Given the description of an element on the screen output the (x, y) to click on. 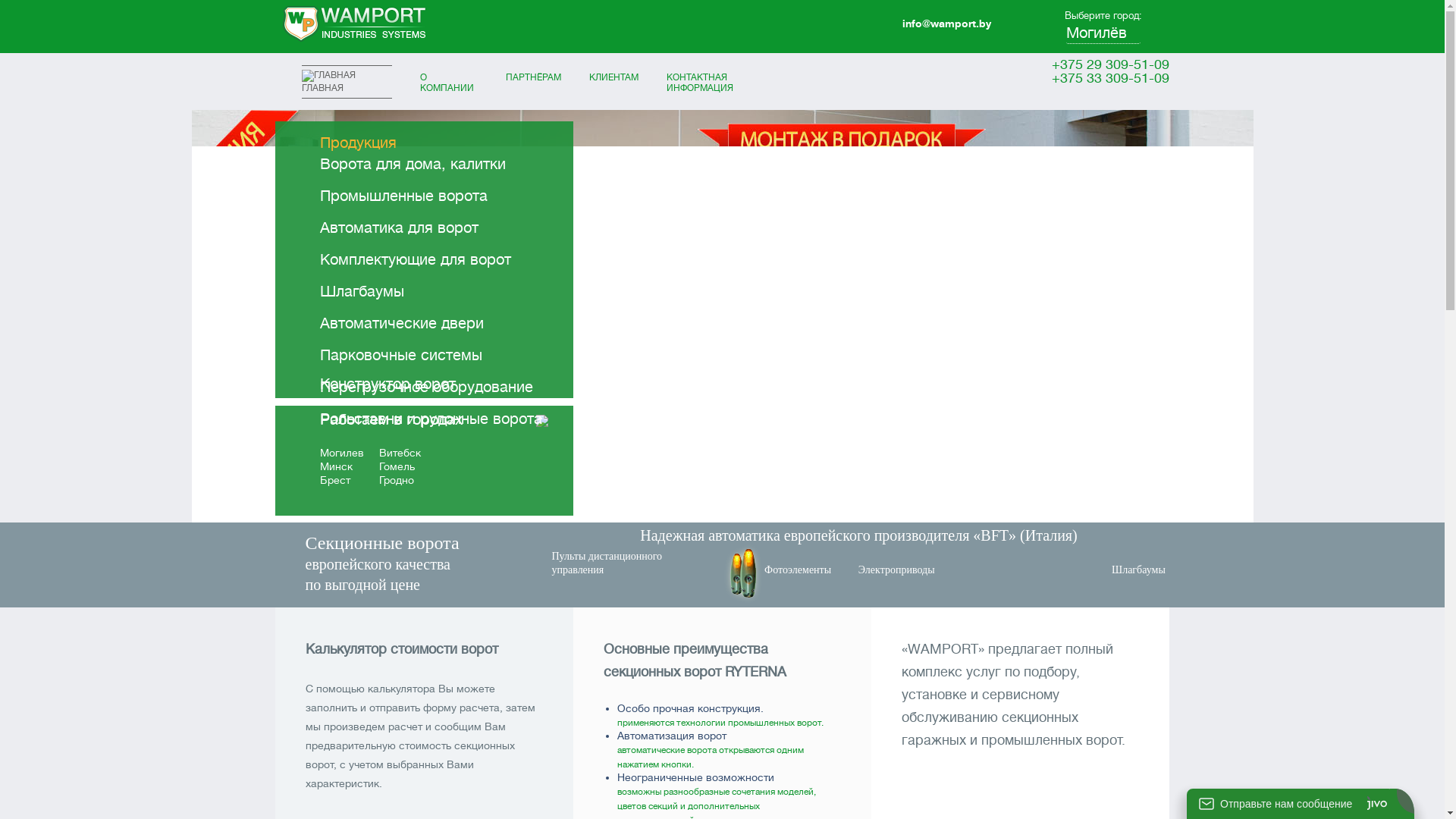
2 Element type: text (711, 506)
info@wamport.by Element type: text (946, 23)
4 Element type: text (751, 506)
1 Element type: text (692, 506)
3 Element type: text (731, 506)
